Given the description of an element on the screen output the (x, y) to click on. 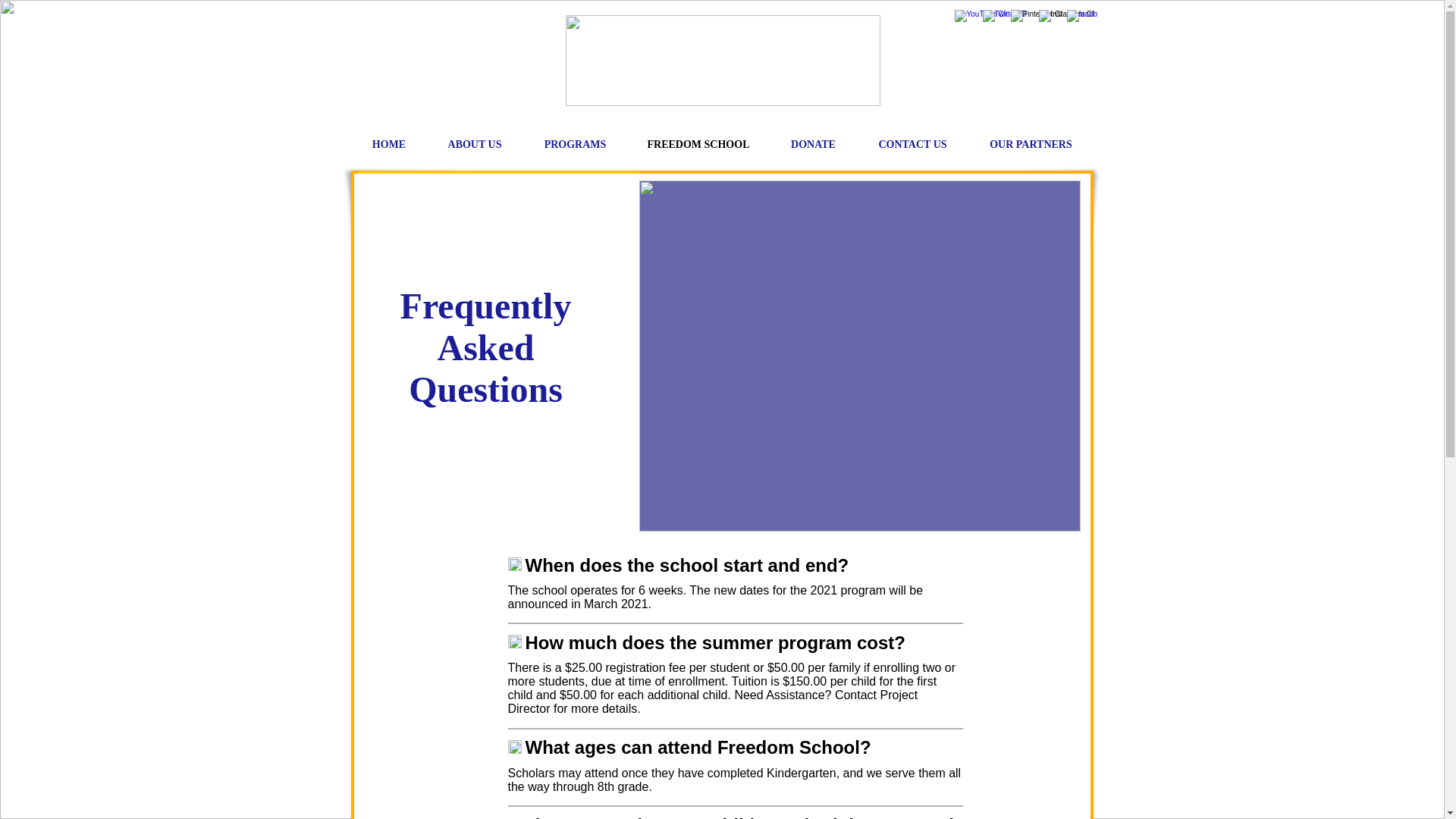
ABOUT US (474, 144)
PROGRAMS (574, 144)
DONATE (812, 144)
OUR PARTNERS (1030, 144)
HOME (389, 144)
CONTACT US (912, 144)
FREEDOM SCHOOL (698, 144)
